Given the description of an element on the screen output the (x, y) to click on. 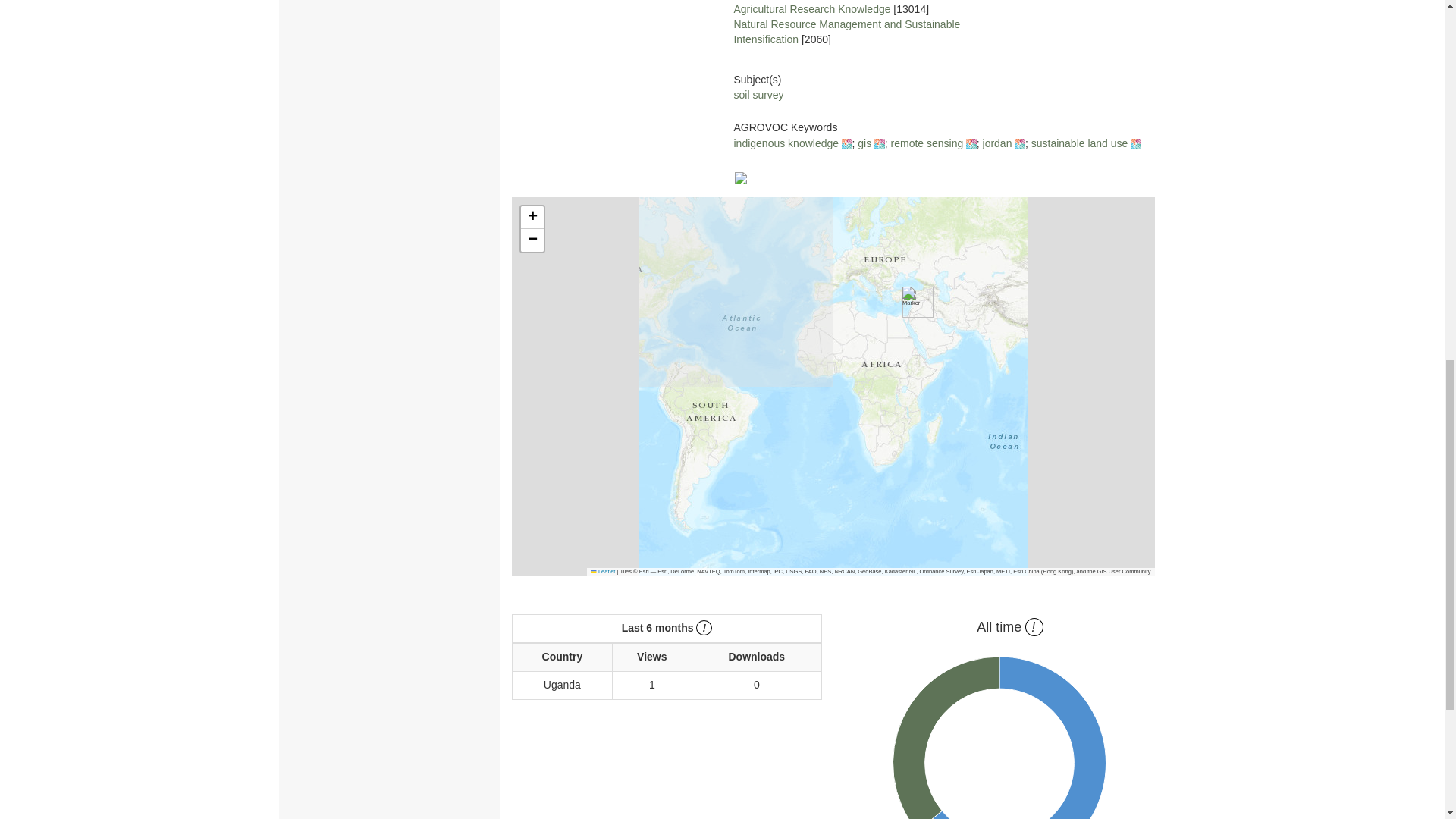
Agricultural Research Knowledge (811, 9)
Zoom out (532, 240)
Natural Resource Management and Sustainable Intensification (846, 31)
soil survey (758, 94)
indigenous knowledge (785, 143)
A JavaScript library for interactive maps (602, 571)
gis (863, 143)
Zoom in (532, 217)
